Given the description of an element on the screen output the (x, y) to click on. 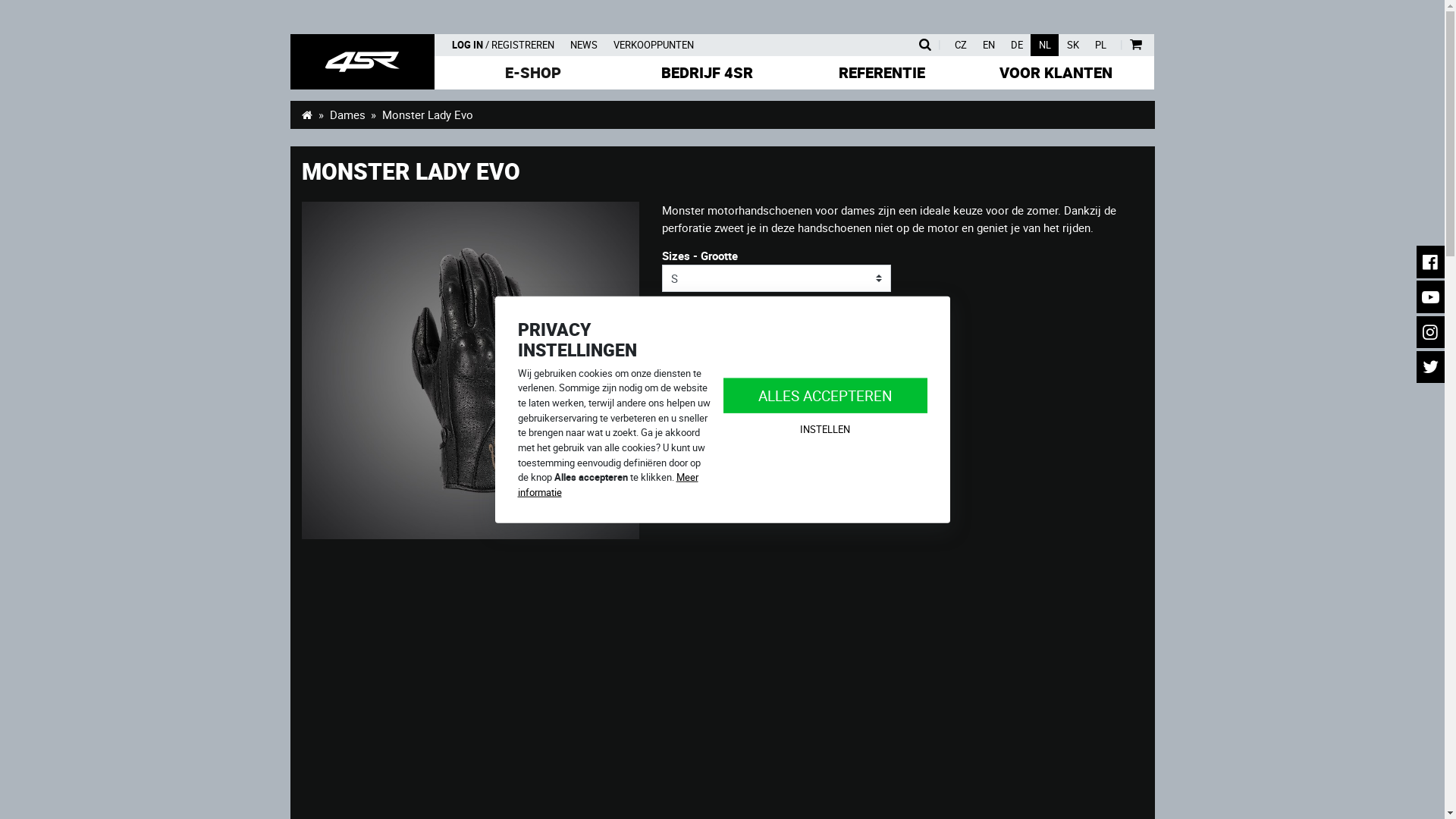
Dames Element type: text (346, 114)
NL Element type: text (1044, 45)
DE Element type: text (1016, 45)
CZ Element type: text (960, 45)
LOG IN / REGISTREREN Element type: text (503, 45)
Twitter Element type: hover (1430, 367)
Meer informatie Element type: text (607, 484)
Monster Lady Evo Element type: hover (470, 370)
EN Element type: text (988, 45)
Instagram Element type: hover (1430, 331)
VERKOOPPUNTEN Element type: text (652, 45)
NEWS Element type: text (584, 45)
YouTube Element type: hover (1430, 296)
REFERENTIE Element type: text (881, 72)
SK Element type: text (1072, 45)
4SR - Motorkleding - racepakken - motorjassen Element type: hover (307, 114)
PL Element type: text (1099, 45)
KOPEN Element type: text (811, 438)
4SR Handschoenen- Leren handschoenen, handschoenen, leer Element type: hover (362, 61)
ALLES ACCEPTEREN Element type: text (825, 395)
MAATTABEL Element type: text (710, 344)
E-SHOP Element type: text (532, 72)
VOOR KLANTEN Element type: text (1056, 72)
Facebook Element type: hover (1430, 261)
INSTELLEN Element type: text (825, 429)
BEDRIJF 4SR Element type: text (707, 72)
Jouw aankoop Element type: hover (1136, 44)
